Given the description of an element on the screen output the (x, y) to click on. 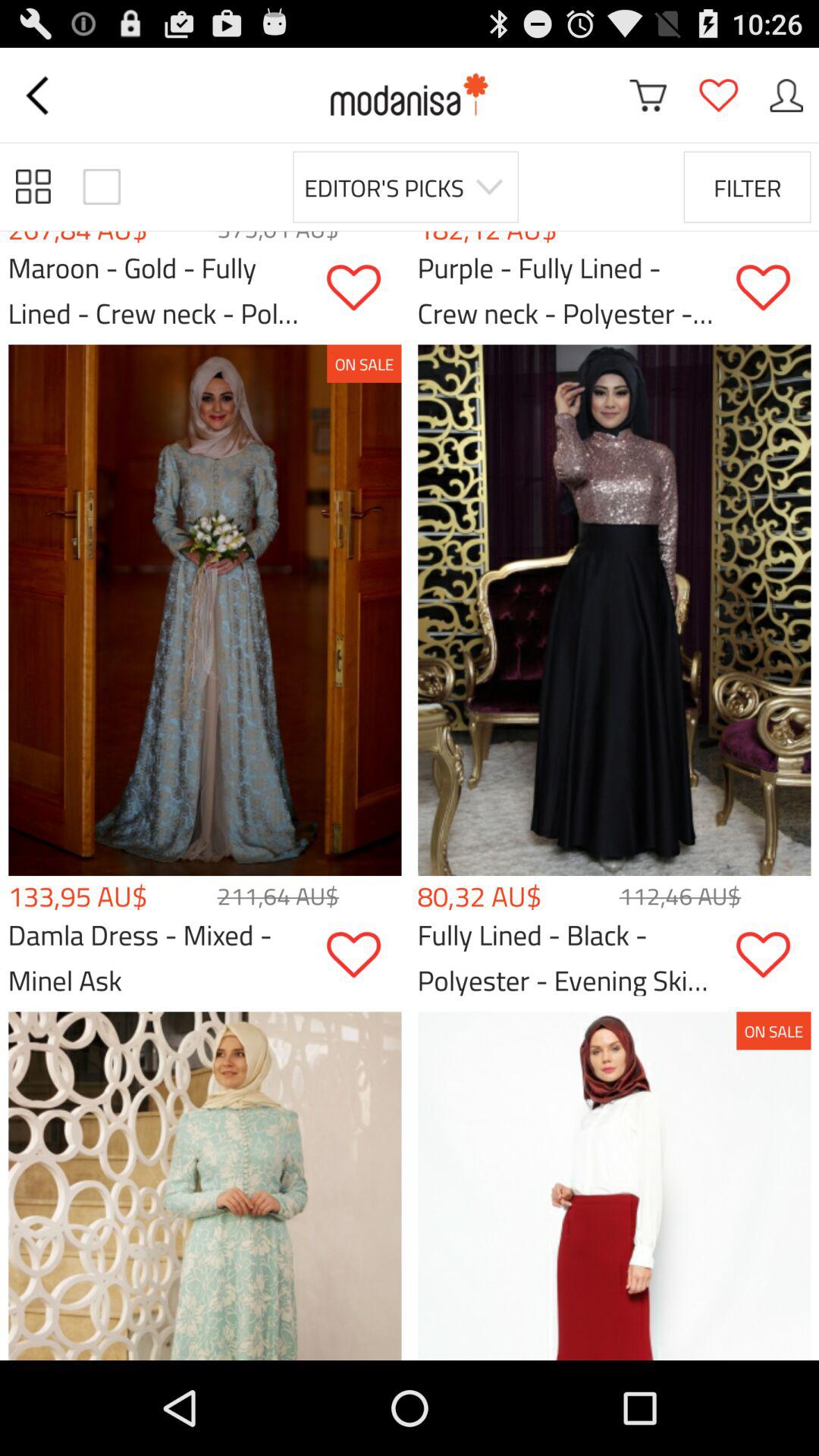
click to like (773, 287)
